Given the description of an element on the screen output the (x, y) to click on. 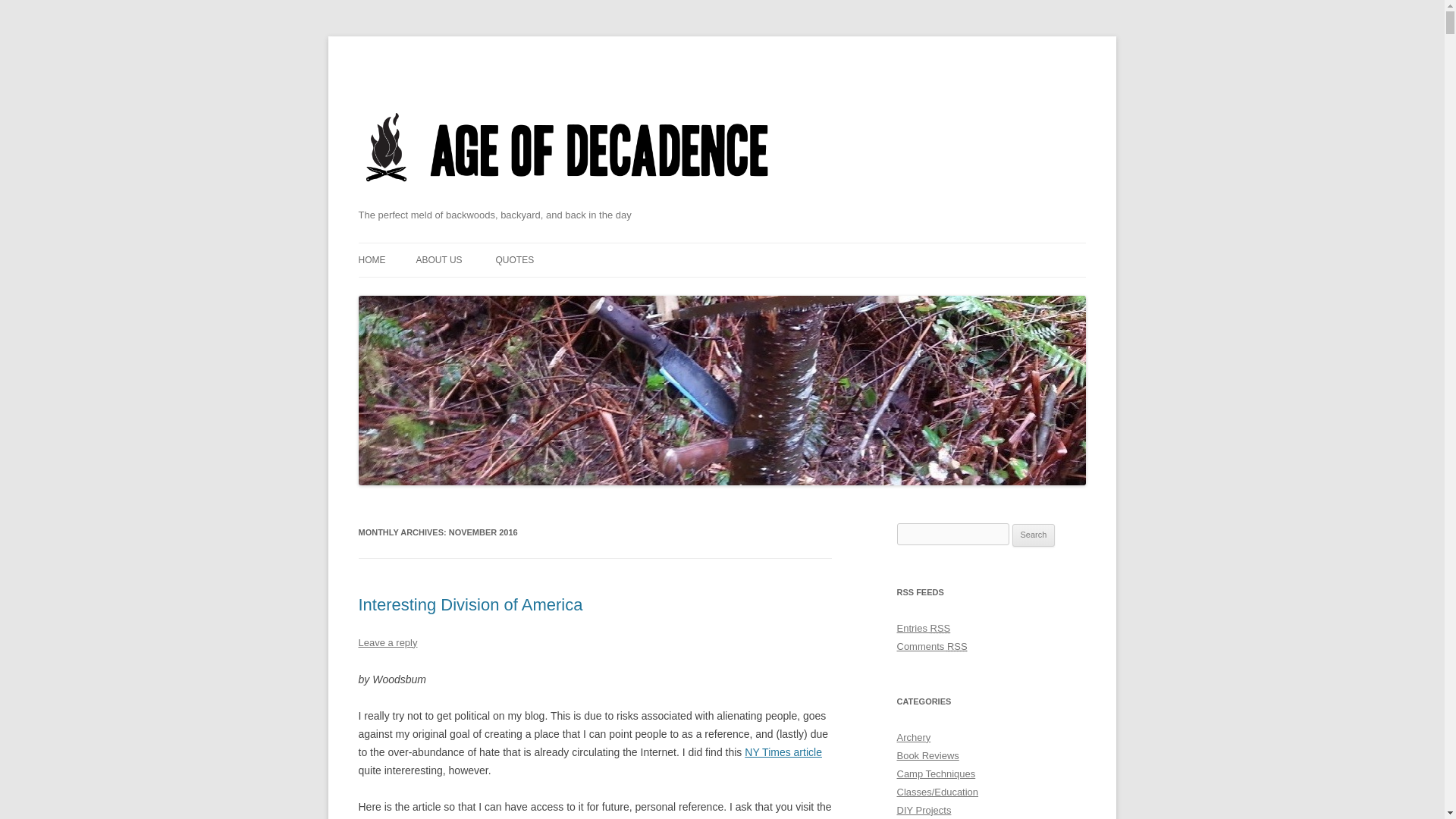
ABOUT US (437, 259)
QUOTES (514, 259)
Interesting Division of America (470, 604)
Skip to content (757, 247)
NY Times article (783, 752)
Skip to content (757, 247)
Quotes and Rules (514, 259)
Leave a reply (387, 642)
About Me (437, 259)
Search (1033, 535)
The Age of Decadence (567, 200)
